Given the description of an element on the screen output the (x, y) to click on. 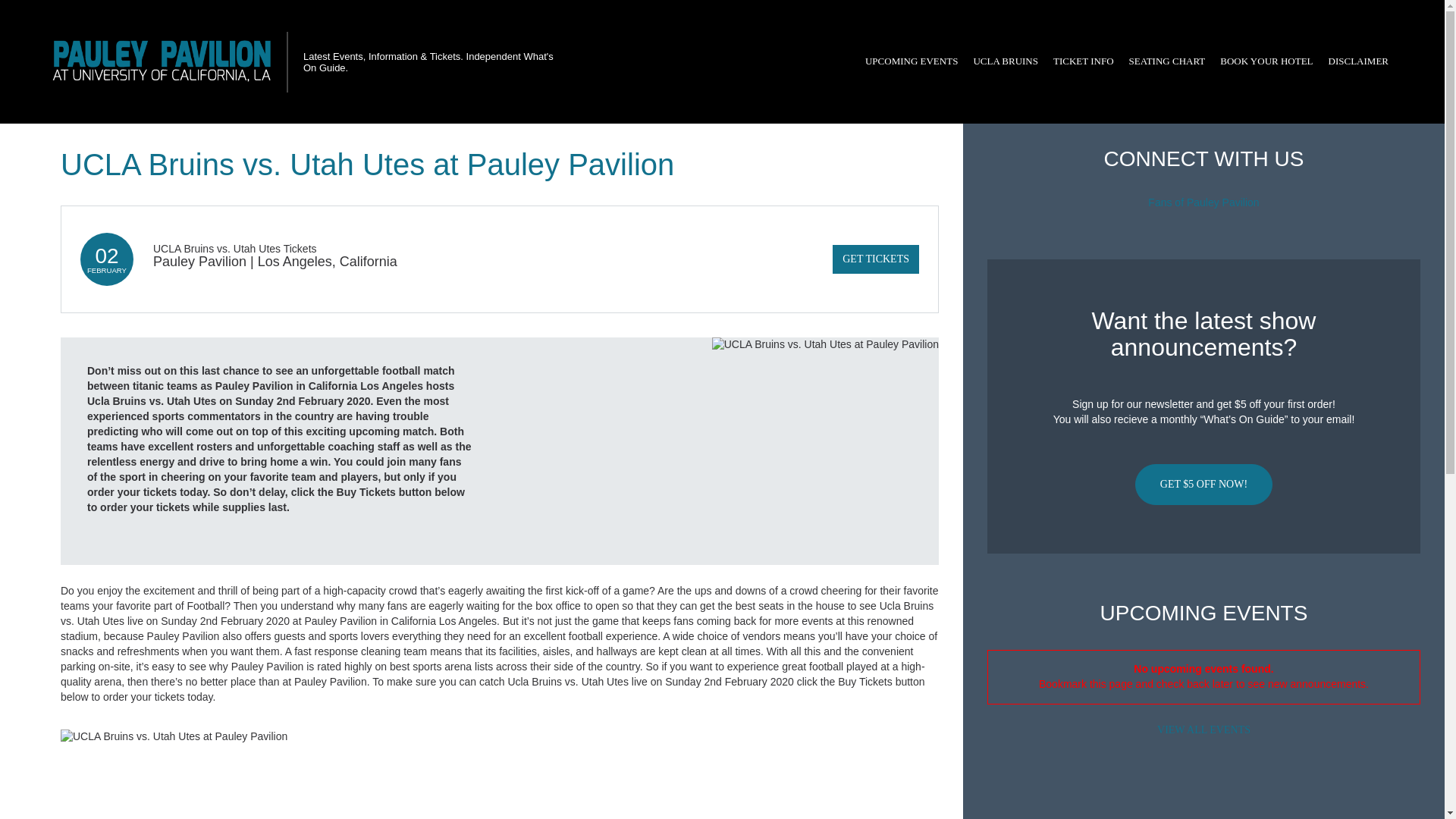
UCLA BRUINS (1005, 61)
SEATING CHART (1166, 61)
BOOK YOUR HOTEL (1266, 61)
TICKET INFO (1083, 61)
Fans of Pauley Pavilion (1203, 202)
GET TICKETS (875, 258)
UCLA Bruins vs. Utah Utes at Pauley Pavilion tickets (500, 736)
UPCOMING EVENTS (911, 61)
DISCLAIMER (1358, 61)
VIEW ALL EVENTS (1203, 729)
UCLA Bruins vs. Utah Utes at Pauley Pavilion (825, 451)
UCLA Bruins vs. Utah Utes Tickets (234, 248)
